Given the description of an element on the screen output the (x, y) to click on. 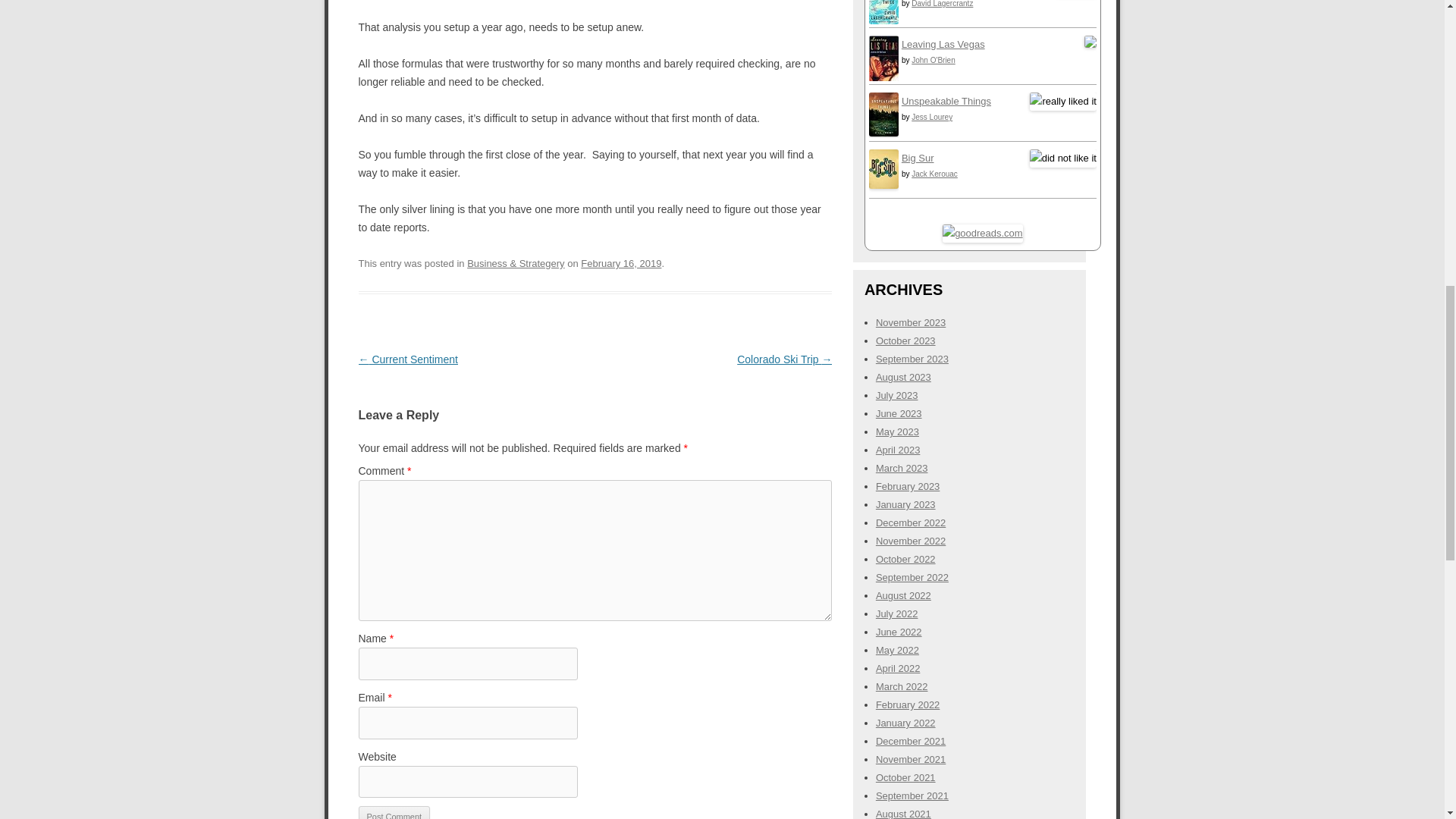
John O'Brien (933, 60)
February 16, 2019 (620, 263)
Post Comment (393, 812)
David Lagercrantz (941, 3)
Leaving Las Vegas (943, 43)
1:16 am (620, 263)
Unspeakable Things (883, 132)
did not like it (1062, 157)
Post Comment (393, 812)
Leaving Las Vegas (883, 78)
really liked it (1062, 101)
Big Sur (883, 184)
